Given the description of an element on the screen output the (x, y) to click on. 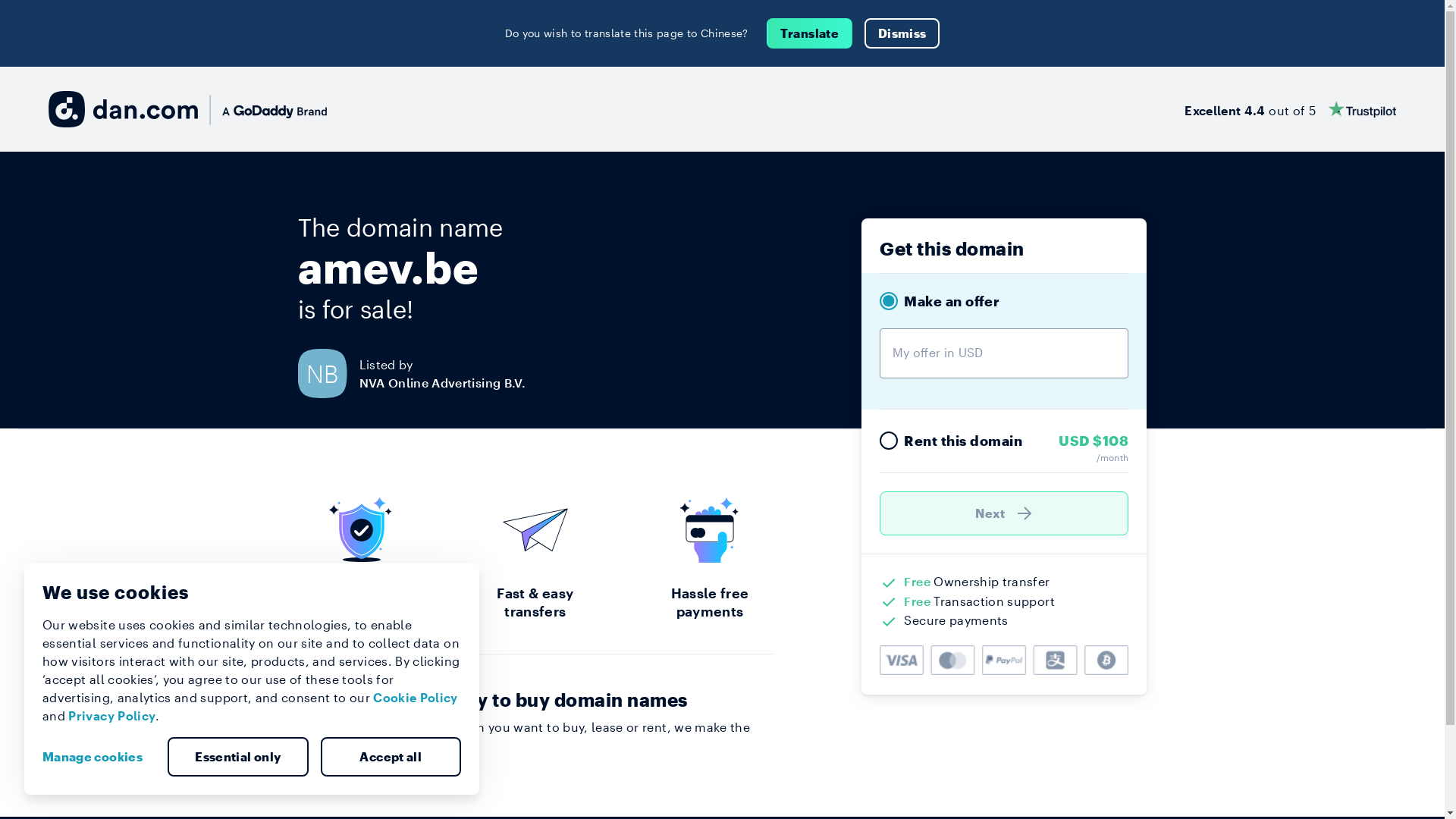
Translate Element type: text (809, 33)
Excellent 4.4 out of 5 Element type: text (1290, 109)
Manage cookies Element type: text (98, 756)
Next
) Element type: text (1003, 513)
Essential only Element type: text (237, 756)
Dismiss Element type: text (901, 33)
Accept all Element type: text (390, 756)
Privacy Policy Element type: text (111, 715)
Cookie Policy Element type: text (415, 697)
